Given the description of an element on the screen output the (x, y) to click on. 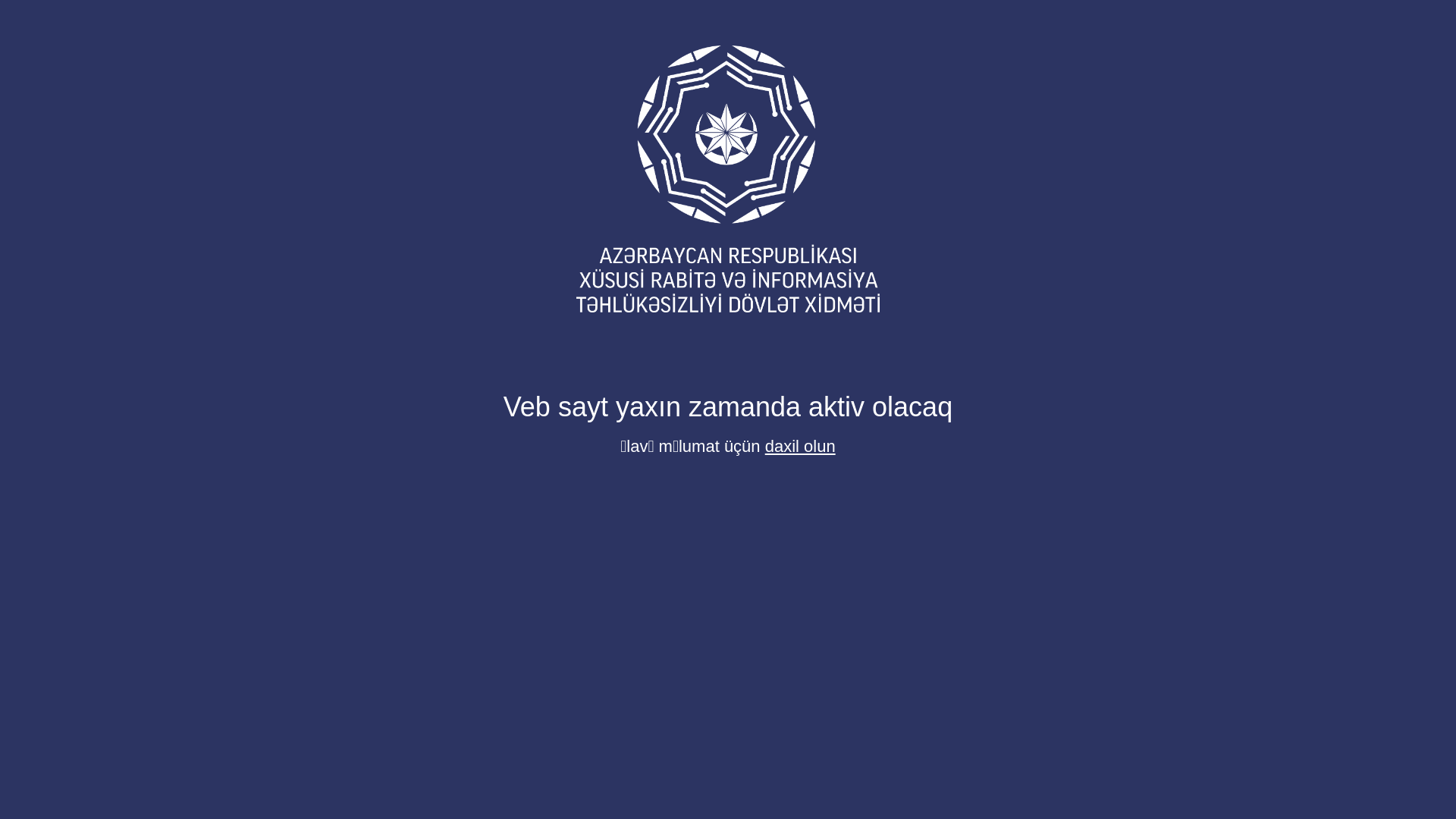
daxil olun Element type: text (800, 445)
